Given the description of an element on the screen output the (x, y) to click on. 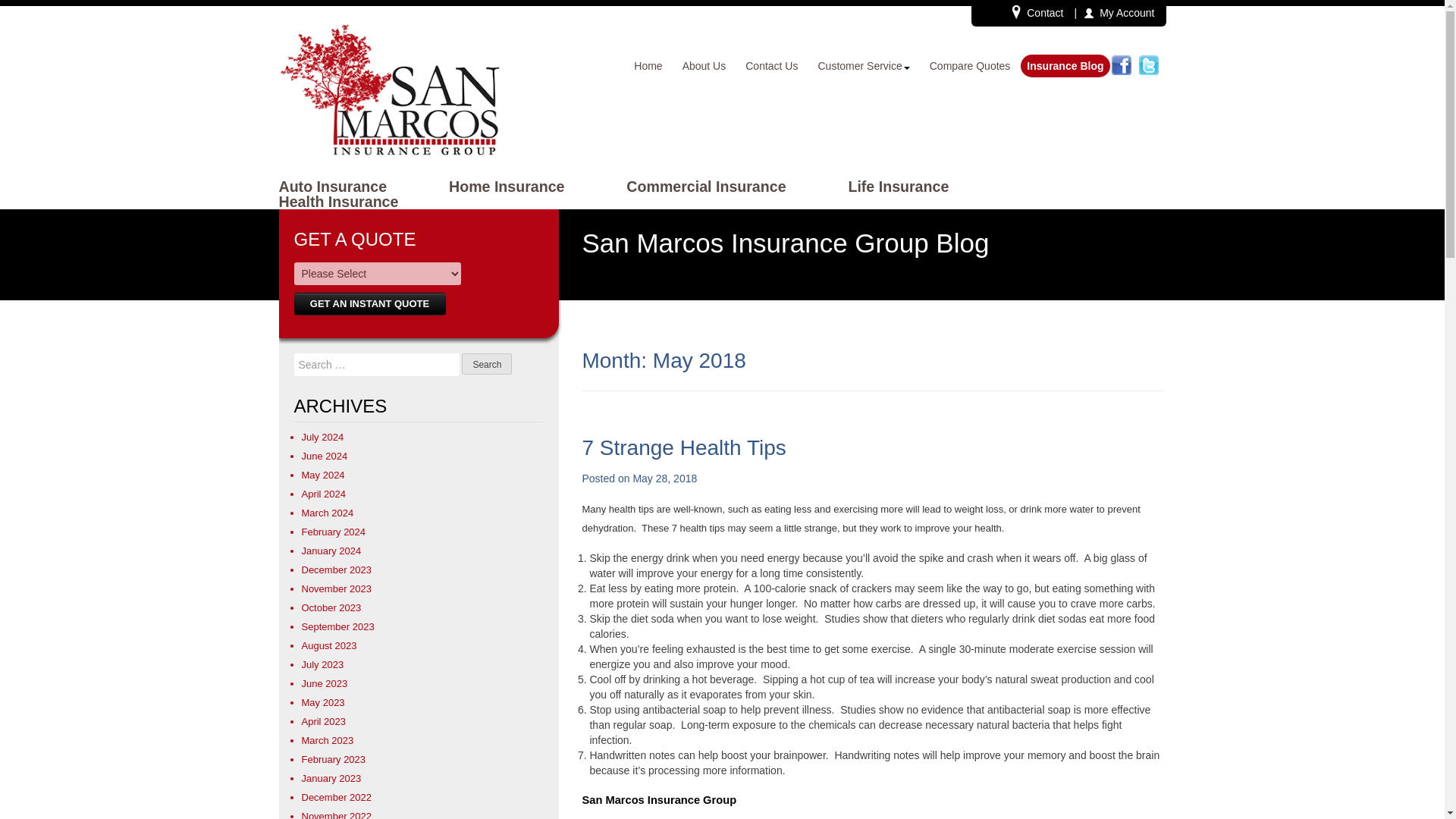
Customer Service (863, 65)
Insurance Blog (1064, 65)
Search (486, 363)
Compare Quotes (970, 65)
My Account (1121, 12)
Contact San Marcos Insurance Group (1037, 12)
Contact Us (771, 65)
Contact (1037, 12)
Auto Insurance (333, 186)
Life Insurance (898, 186)
Home (647, 65)
Health Insurance (338, 201)
Commercial Insurance (706, 186)
Search (486, 363)
About Us (703, 65)
